Given the description of an element on the screen output the (x, y) to click on. 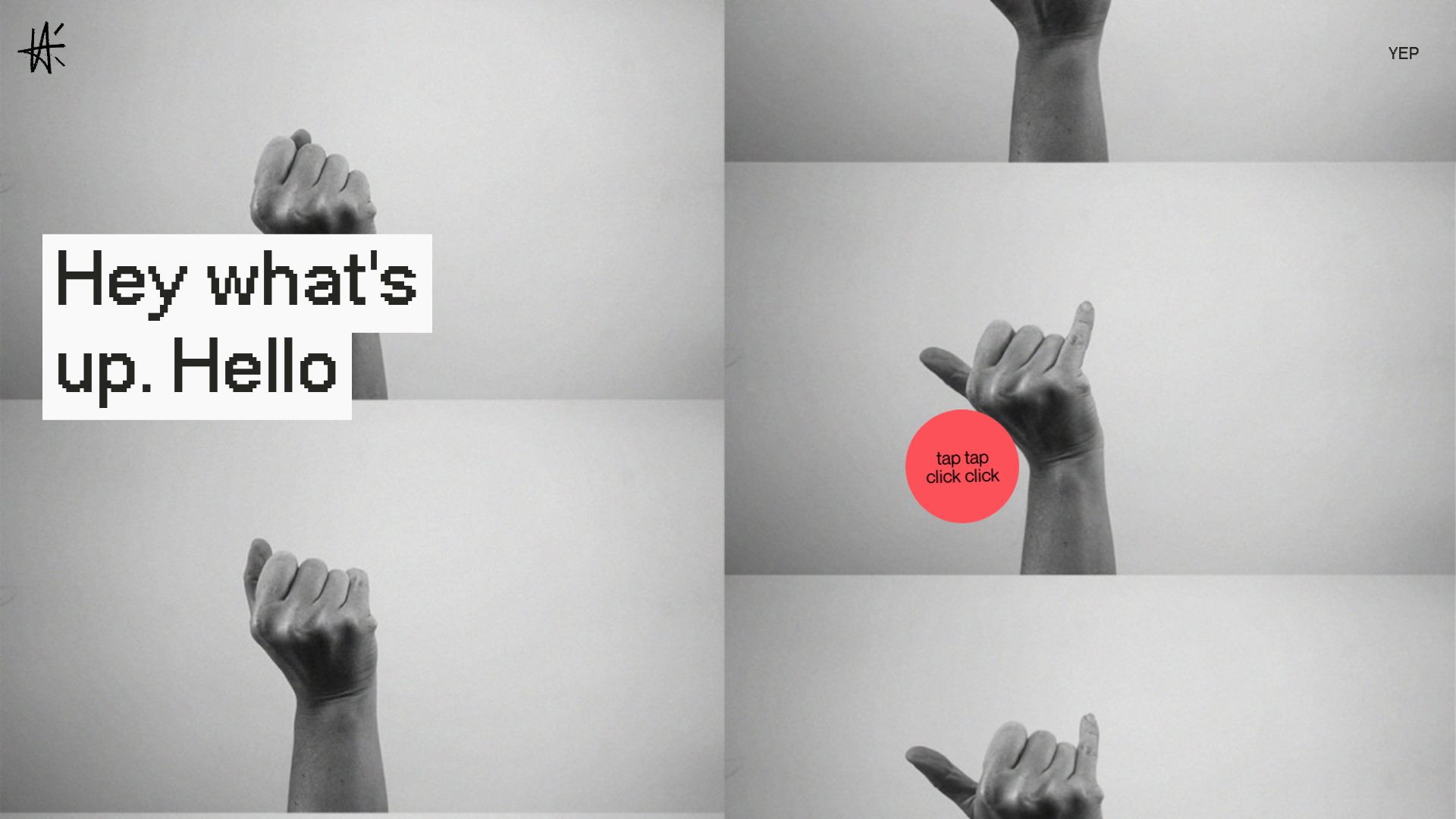
YEP Element type: text (1403, 54)
